Given the description of an element on the screen output the (x, y) to click on. 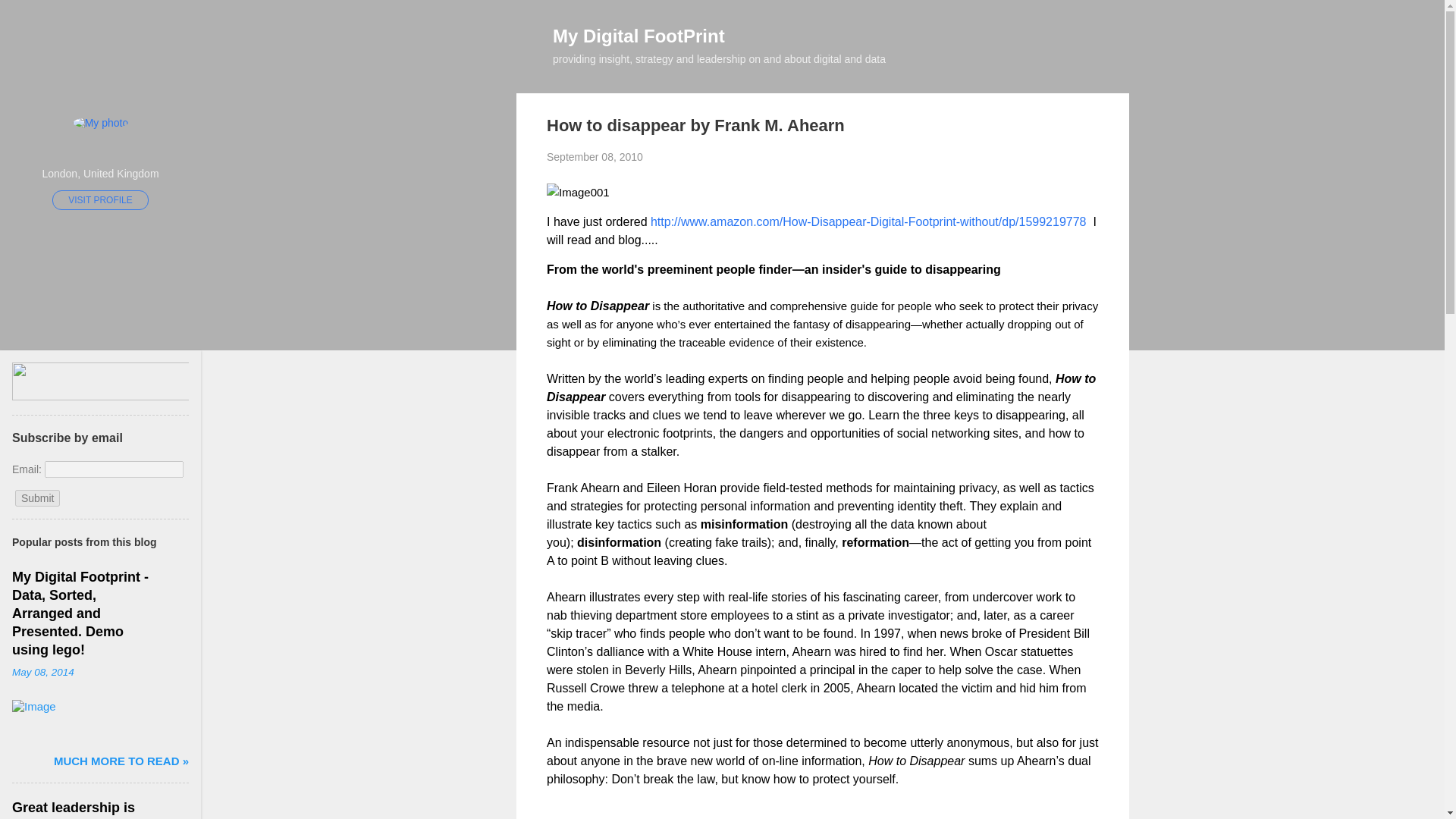
September 08, 2010 (595, 156)
permanent link (595, 156)
Search (28, 18)
May 08, 2014 (42, 672)
Submit (37, 497)
permanent link (42, 672)
VISIT PROFILE (100, 199)
Submit (37, 497)
My Digital FootPrint (639, 35)
